Given the description of an element on the screen output the (x, y) to click on. 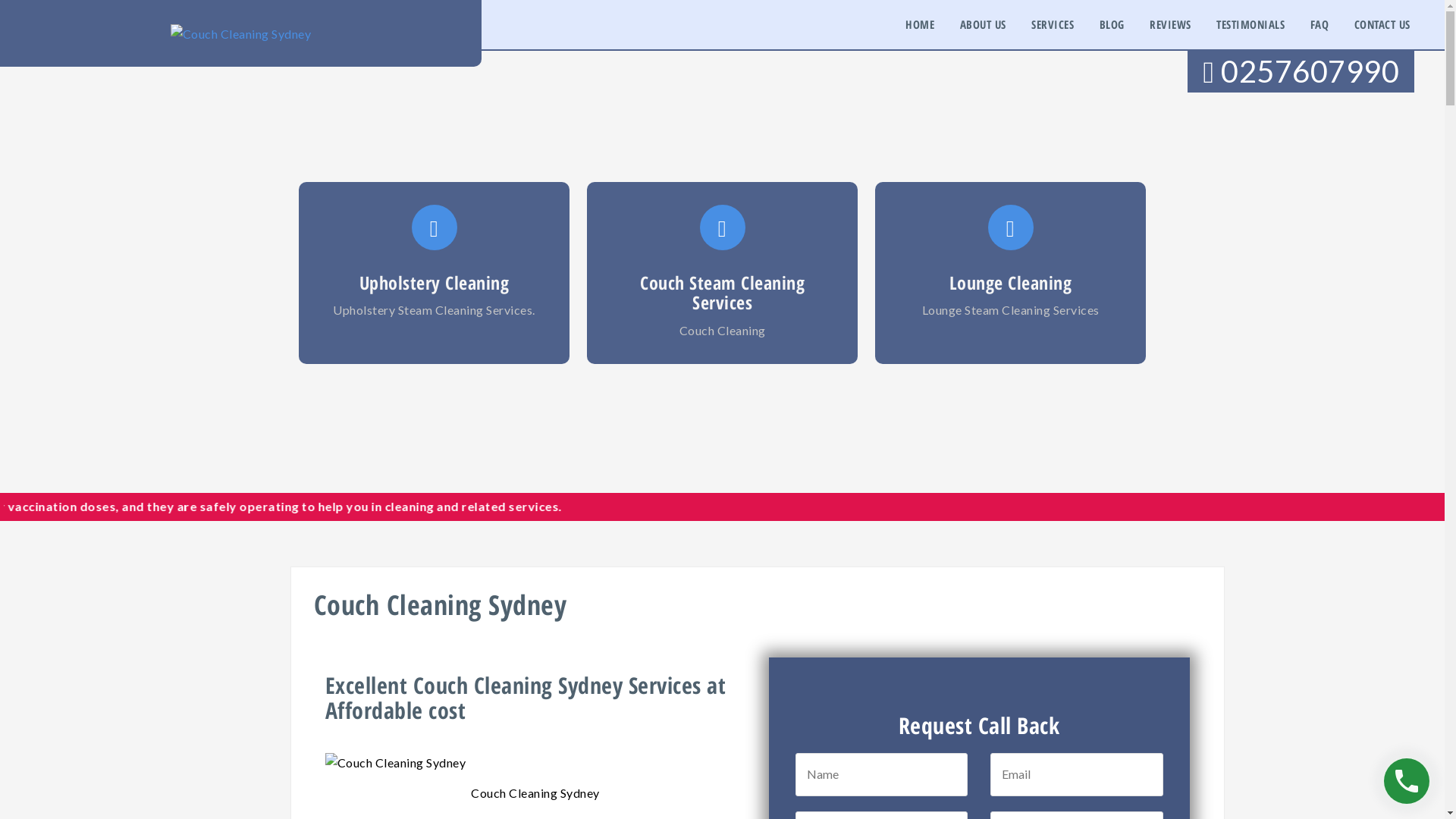
BLOG Element type: text (1111, 24)
ABOUT US Element type: text (982, 24)
Couch Cleaning Sydney Element type: hover (240, 32)
CONTACT US Element type: text (1382, 24)
FAQ Element type: text (1319, 24)
SERVICES Element type: text (1052, 24)
TESTIMONIALS Element type: text (1249, 24)
0257607990 Element type: text (1300, 71)
REVIEWS Element type: text (1170, 24)
HOME Element type: text (919, 24)
